Given the description of an element on the screen output the (x, y) to click on. 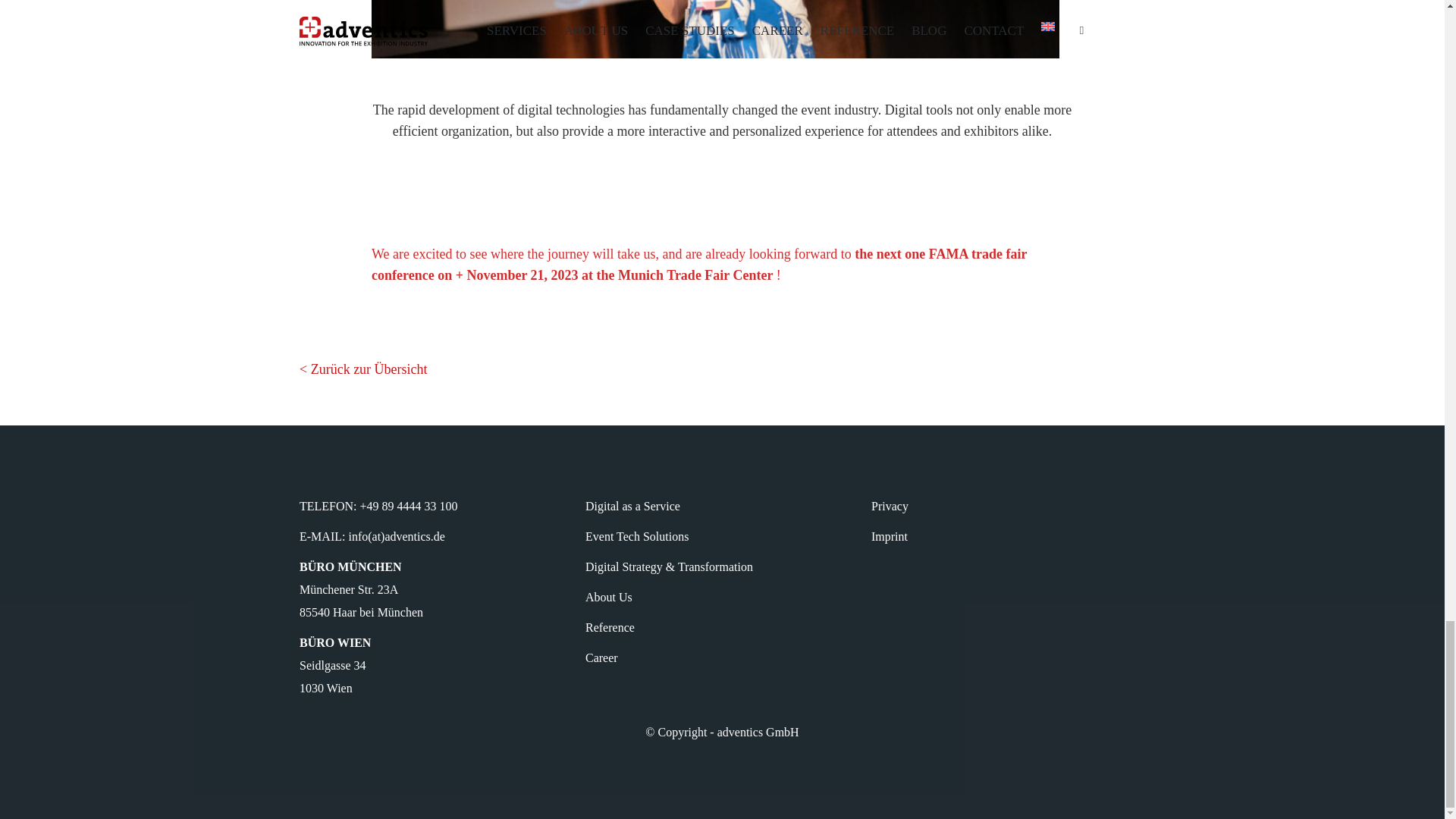
Event Tech Solutions (636, 535)
Reference (609, 626)
Imprint (888, 535)
About Us (608, 596)
Privacy (889, 505)
Career (601, 657)
Digital as a Service (632, 505)
